Given the description of an element on the screen output the (x, y) to click on. 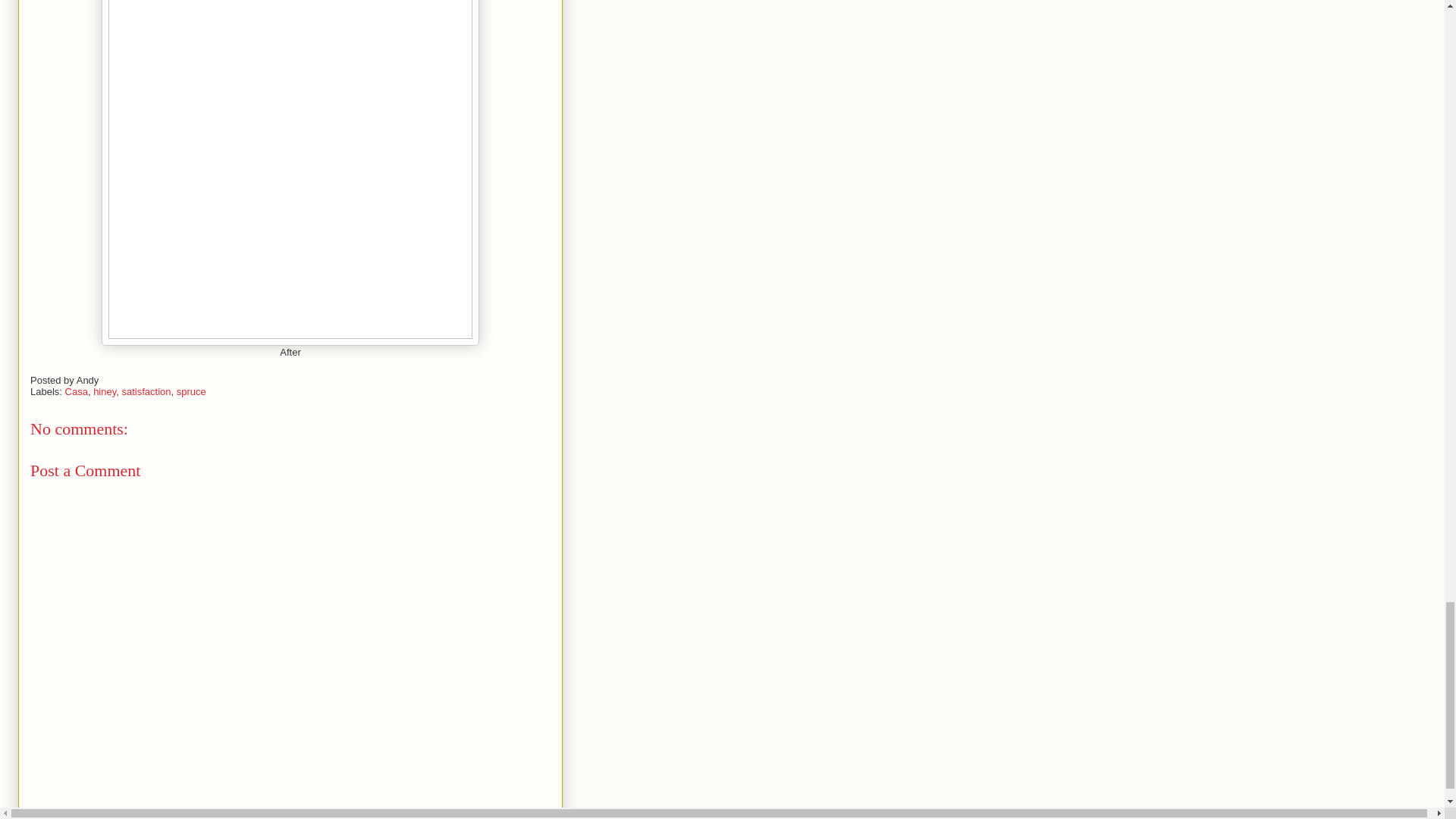
hiney (104, 391)
satisfaction (145, 391)
spruce (191, 391)
Casa (76, 391)
